Given the description of an element on the screen output the (x, y) to click on. 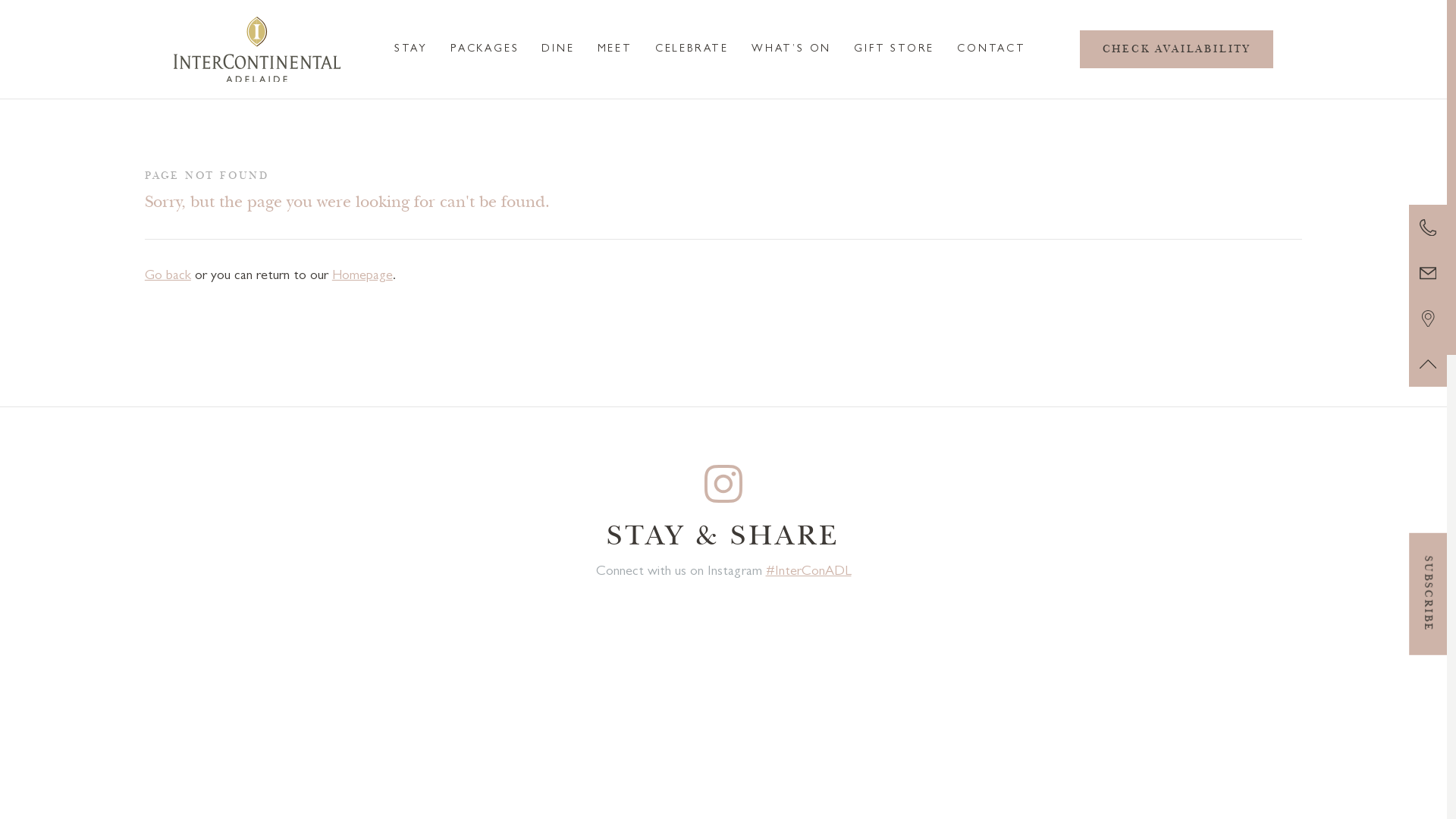
MEET Element type: text (614, 49)
InterContinental Adelaide Element type: hover (256, 49)
DINE Element type: text (557, 49)
#InterConADL Element type: text (808, 572)
Homepage Element type: text (362, 276)
PACKAGES Element type: text (484, 49)
Go back Element type: text (167, 276)
CHECK AVAILABILITY Element type: text (1176, 49)
CONTACT Element type: text (991, 49)
GIFT STORE Element type: text (893, 49)
CELEBRATE Element type: text (691, 49)
STAY Element type: text (410, 49)
